Given the description of an element on the screen output the (x, y) to click on. 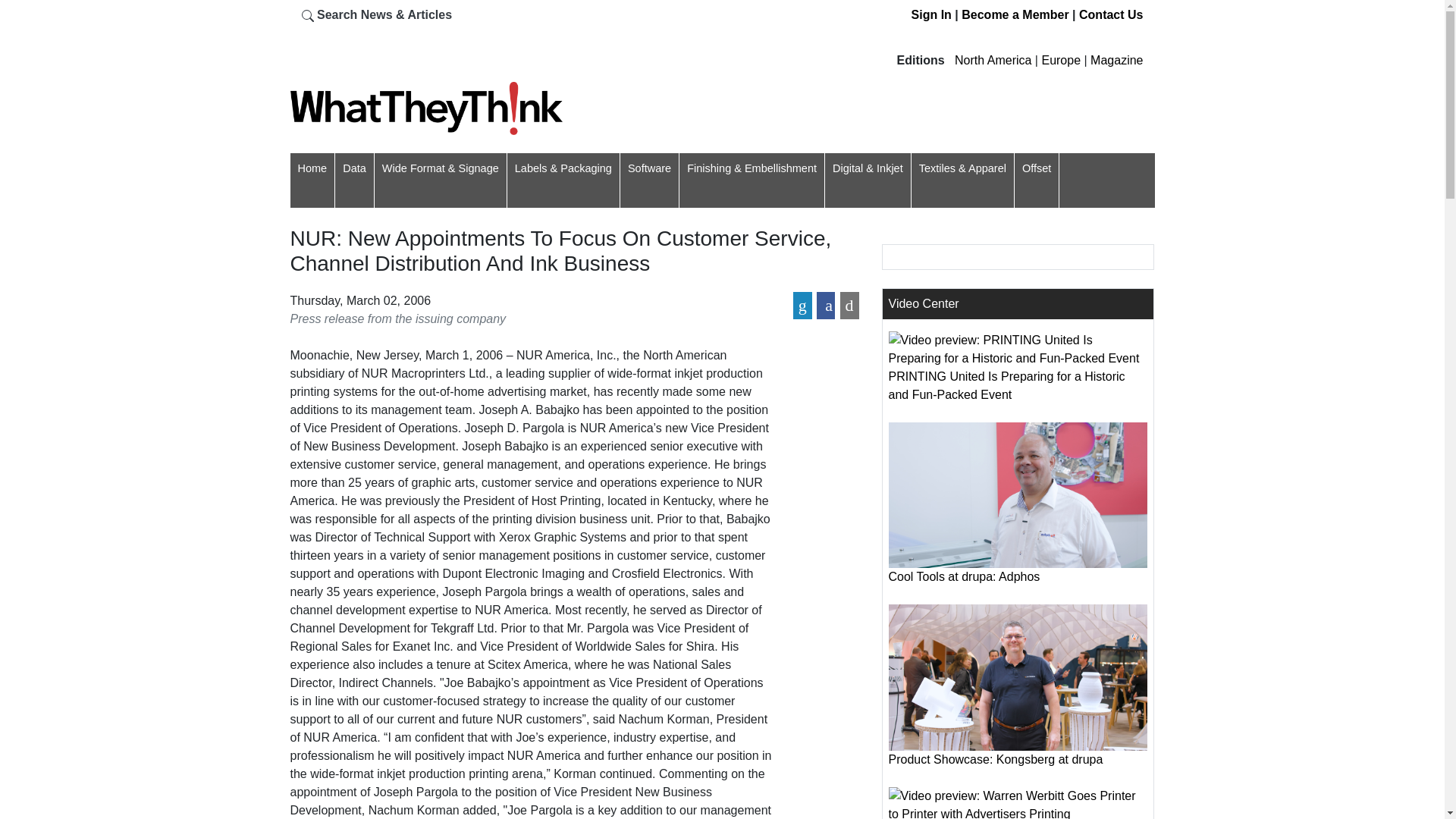
North America (992, 60)
Magazine (1116, 60)
Software (649, 168)
Become a Member (1014, 14)
Europe (1060, 60)
Home (311, 168)
Contact Us (1110, 14)
Data (354, 168)
Sign In (931, 14)
